Given the description of an element on the screen output the (x, y) to click on. 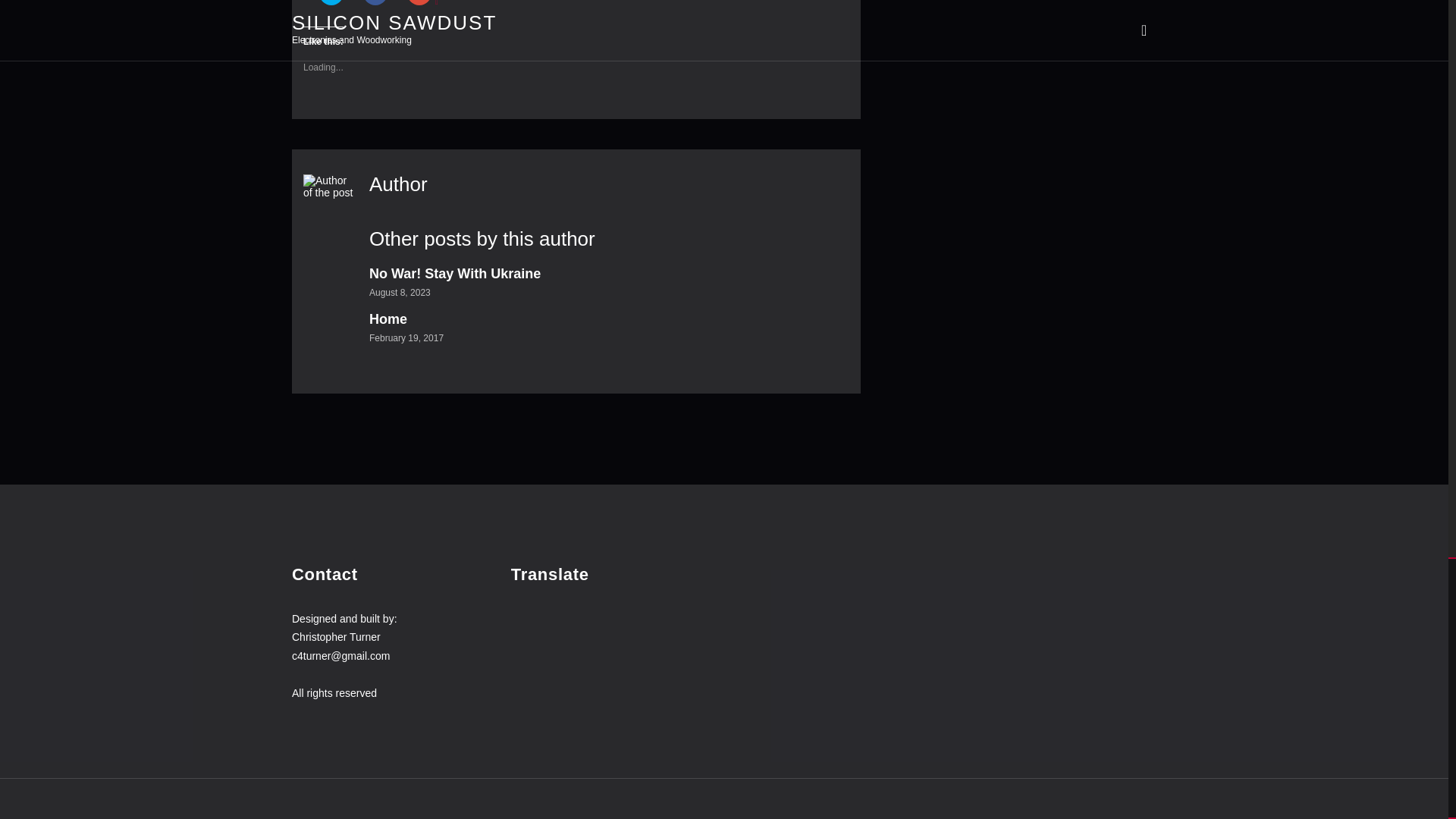
Click to share on Facebook (374, 2)
Home (388, 319)
Click to share on Twitter (330, 2)
No War! Stay With Ukraine (454, 273)
